Given the description of an element on the screen output the (x, y) to click on. 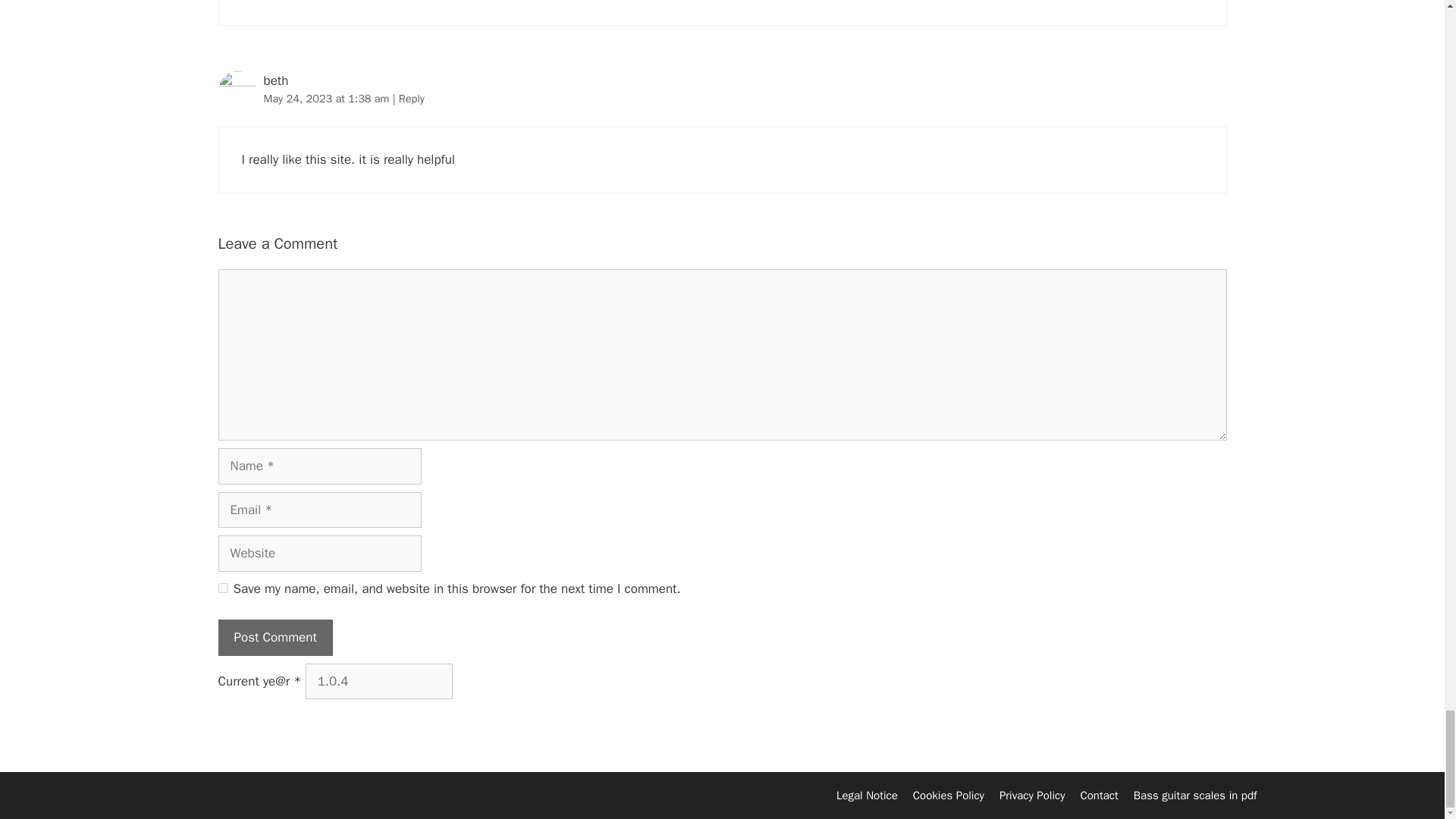
1.0.4 (378, 681)
yes (223, 587)
Post Comment (275, 637)
